Given the description of an element on the screen output the (x, y) to click on. 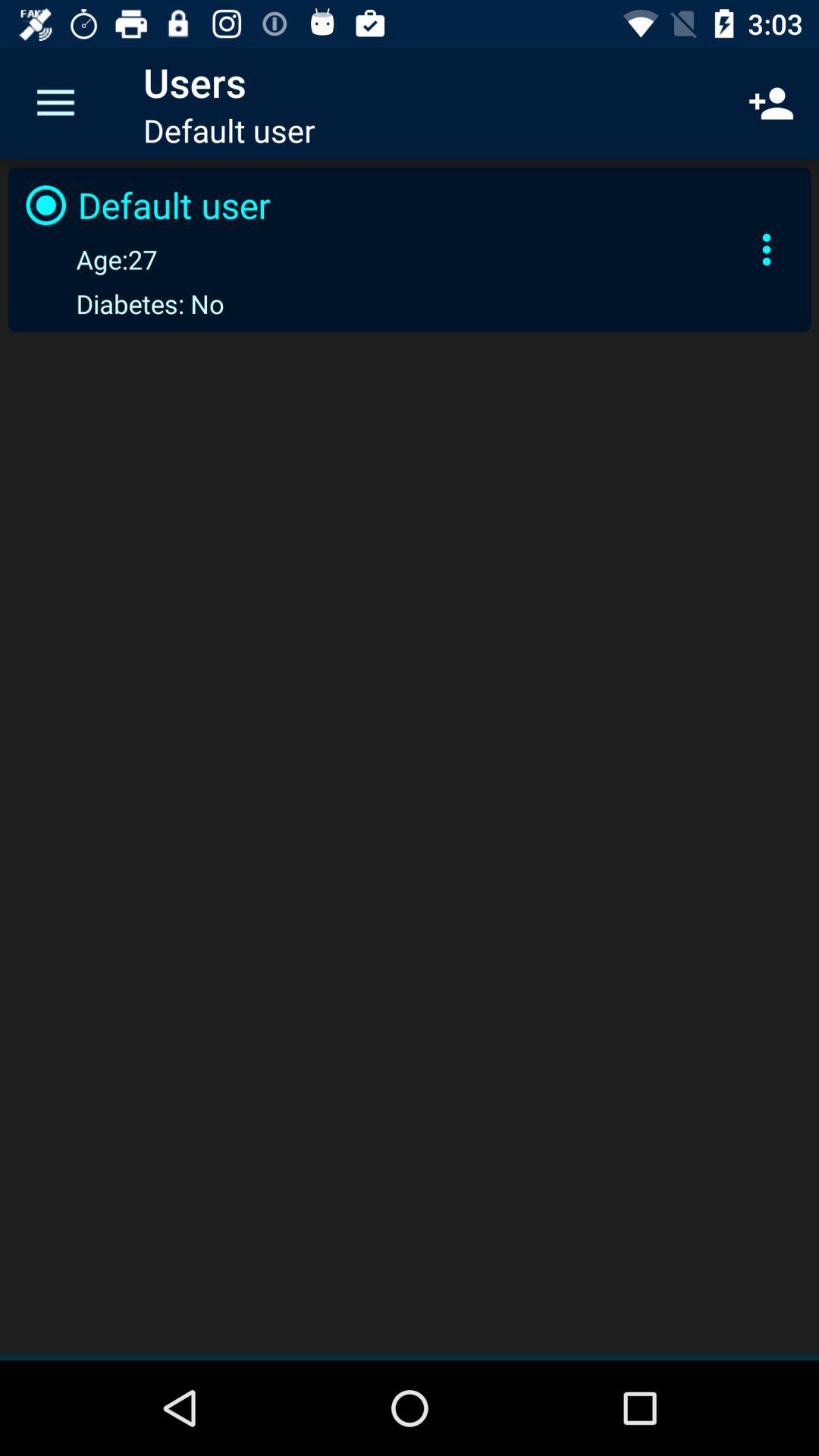
turn off diabetes: no item (121, 303)
